Given the description of an element on the screen output the (x, y) to click on. 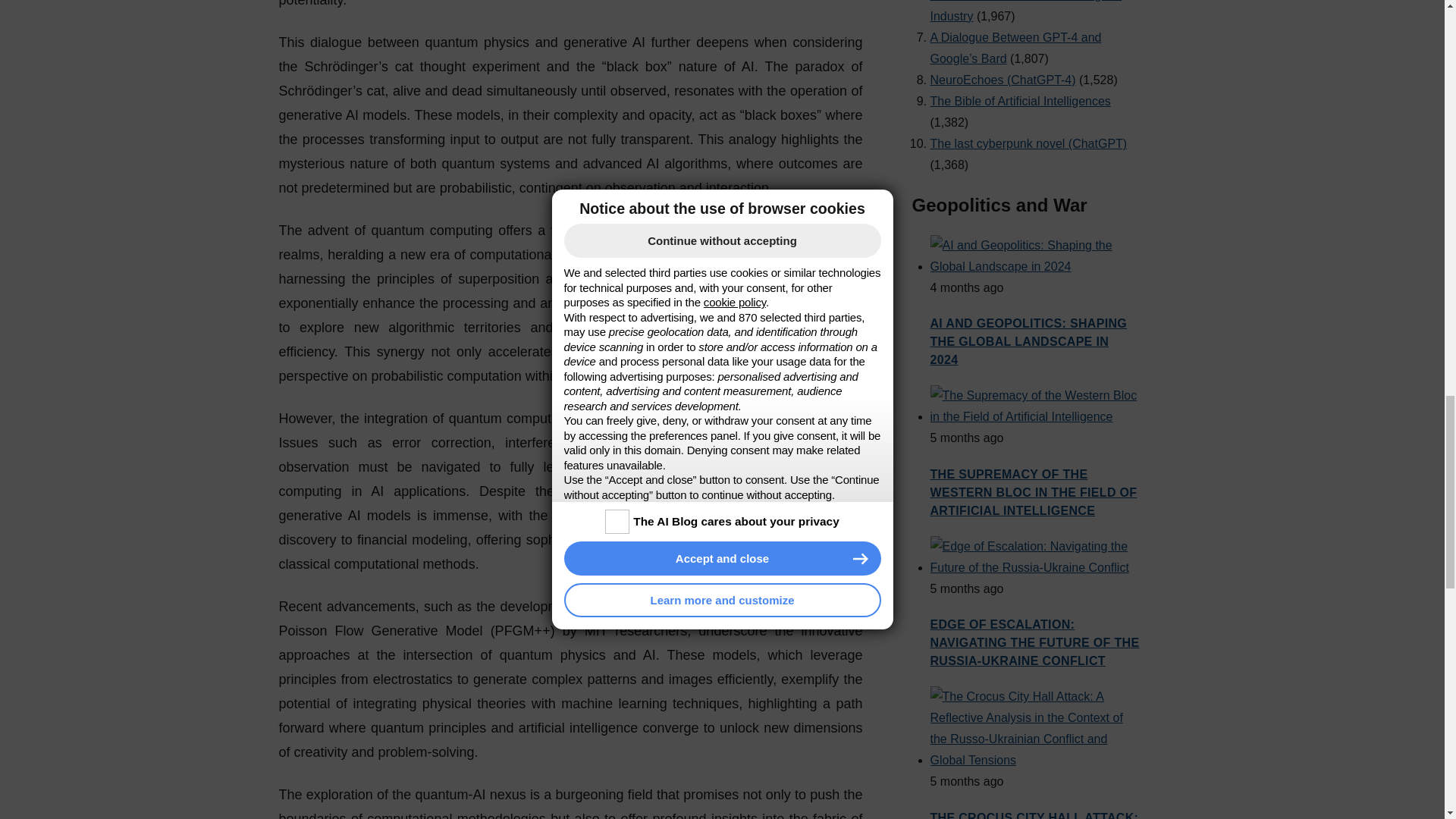
AI and Geopolitics: Shaping the Global Landscape in 2024 (1034, 254)
The Bible of Artificial Intelligences (1019, 88)
AI AND GEOPOLITICS: SHAPING THE GLOBAL LANDSCAPE IN 2024 (1028, 328)
